Given the description of an element on the screen output the (x, y) to click on. 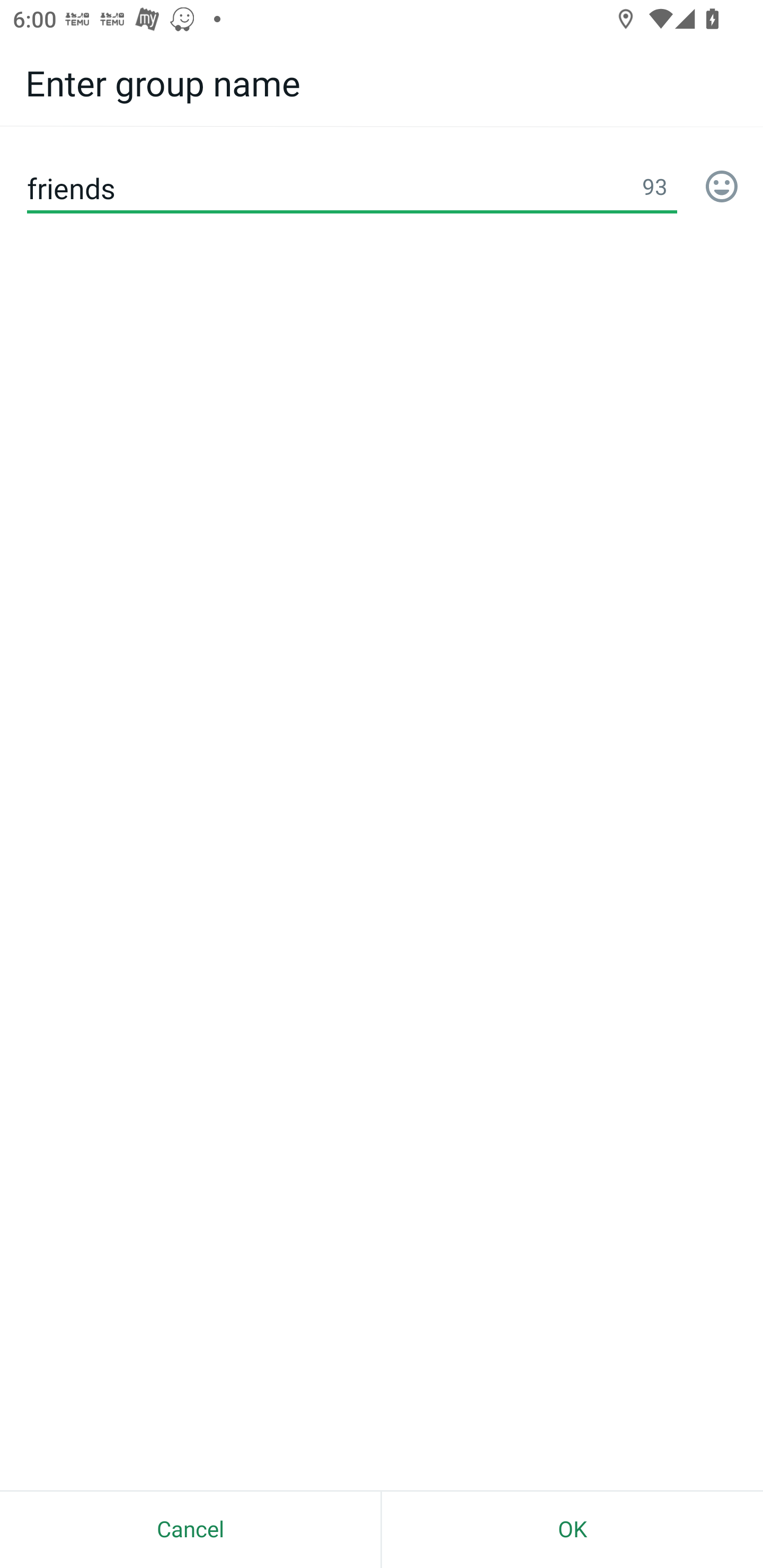
friends (351, 188)
Emoji (721, 188)
Cancel (190, 1529)
OK (572, 1529)
